Given the description of an element on the screen output the (x, y) to click on. 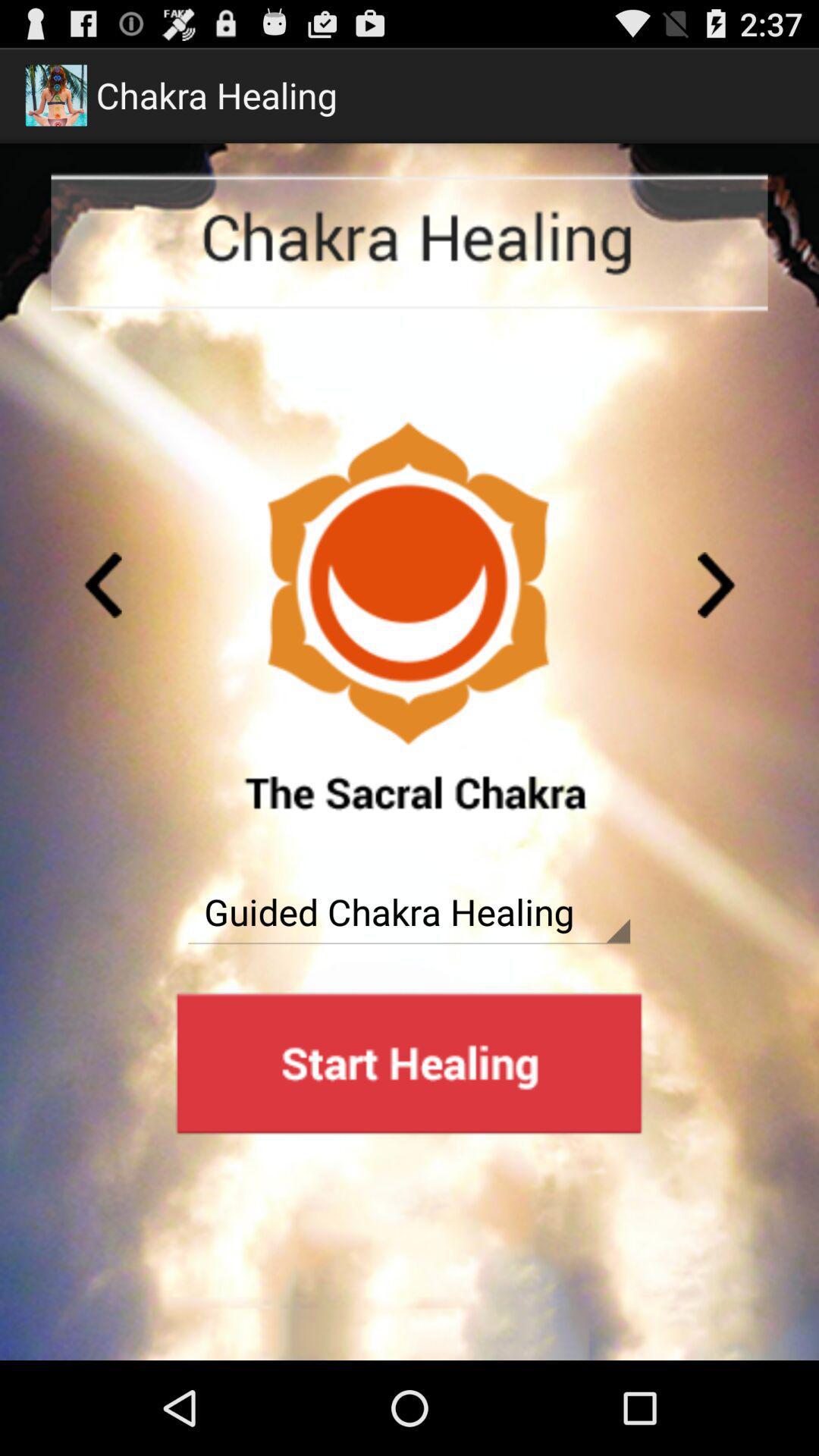
next button (716, 585)
